Given the description of an element on the screen output the (x, y) to click on. 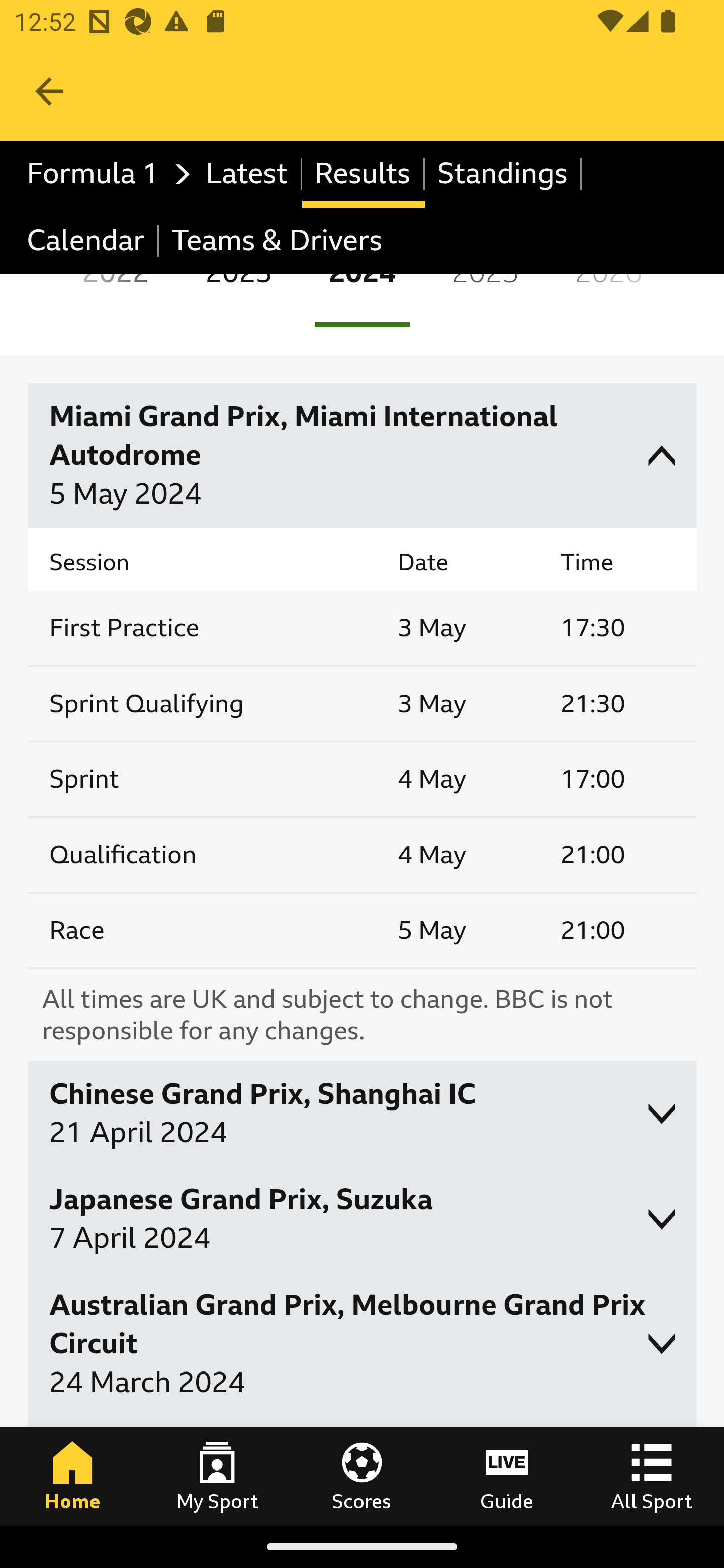
Navigate up (49, 91)
Formula 1 (103, 173)
Latest (246, 173)
Results (362, 173)
Standings (502, 173)
Calendar (86, 240)
Teams & Drivers (277, 240)
Chinese Grand Prix, Shanghai IC , 21 April 2024 (363, 1113)
Japanese Grand Prix, Suzuka , 7 April 2024 (363, 1219)
My Sport (216, 1475)
Scores (361, 1475)
Guide (506, 1475)
All Sport (651, 1475)
